Given the description of an element on the screen output the (x, y) to click on. 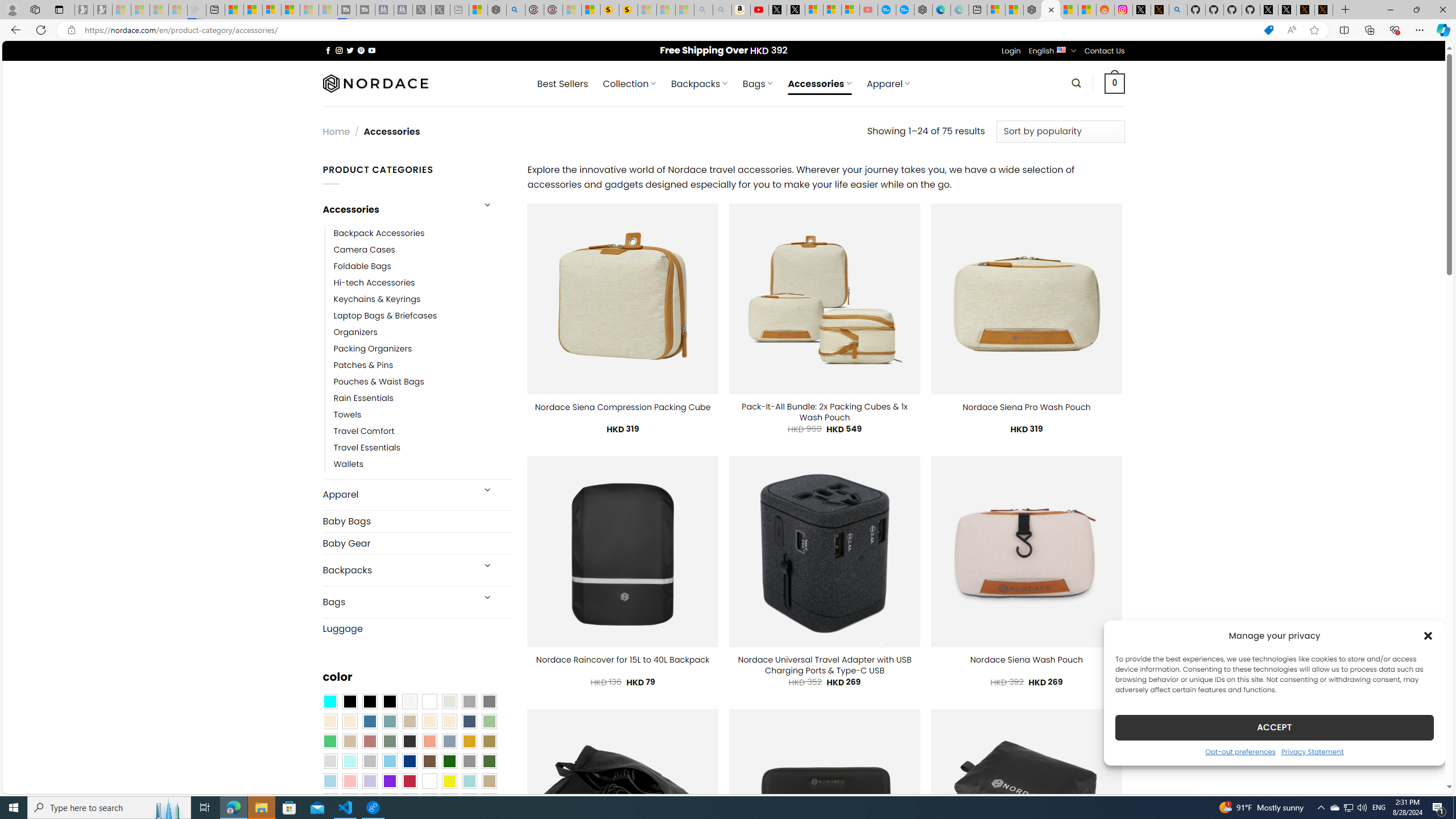
Yellow (449, 780)
X - Sleeping (440, 9)
Pouches & Waist Bags (422, 381)
Hale Navy (468, 721)
Patches & Pins (422, 365)
Charcoal (408, 741)
Newsletter Sign Up - Sleeping (102, 9)
Sage (389, 741)
Emerald Green (329, 741)
amazon - Search - Sleeping (702, 9)
Baby Gear (416, 543)
Follow on Facebook (327, 49)
Dusty Blue (449, 741)
